Given the description of an element on the screen output the (x, y) to click on. 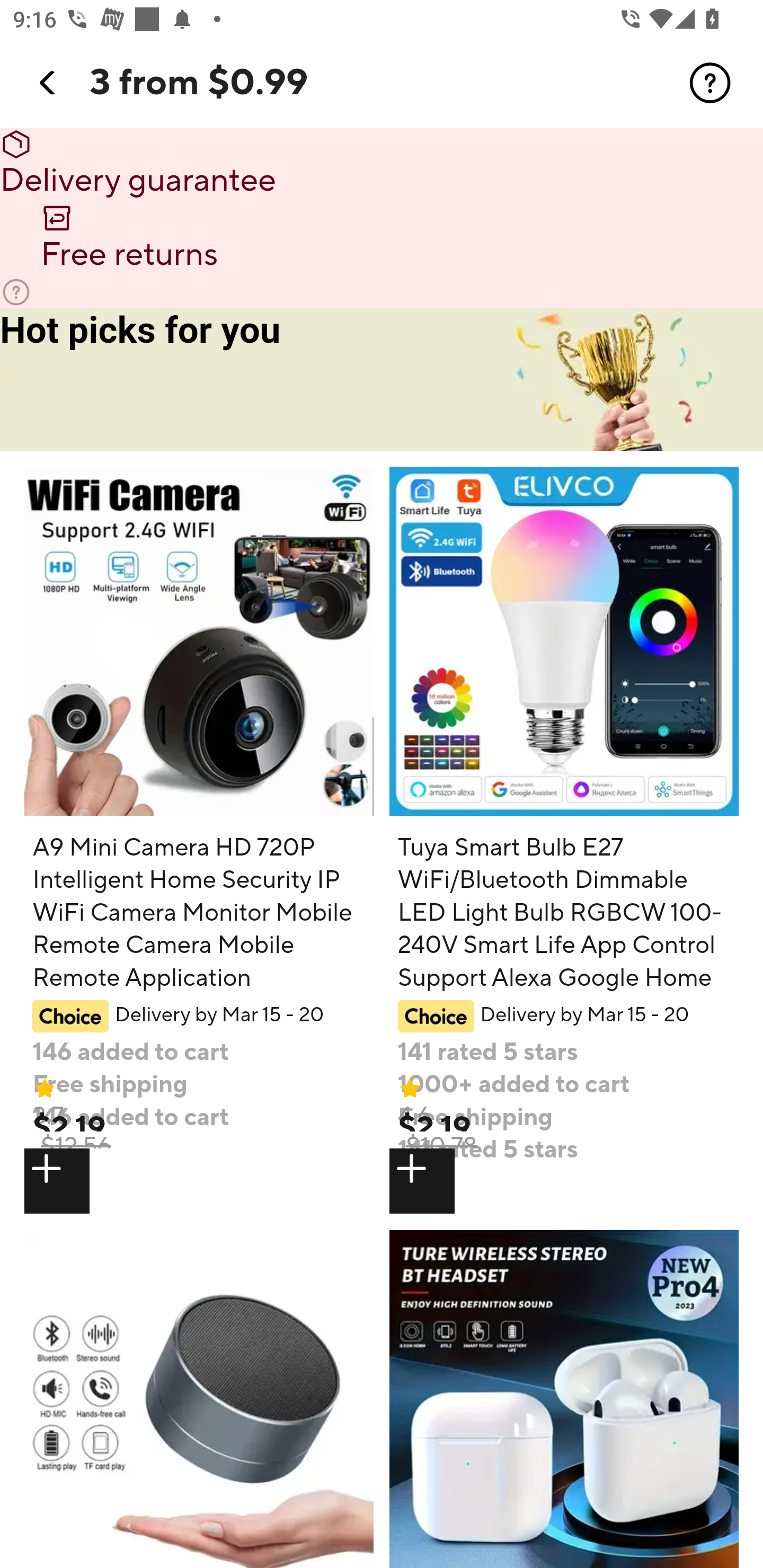
 (710, 82)
 (48, 82)
Hot picks for you (381, 379)
 (198, 1180)
 (564, 1180)
